Given the description of an element on the screen output the (x, y) to click on. 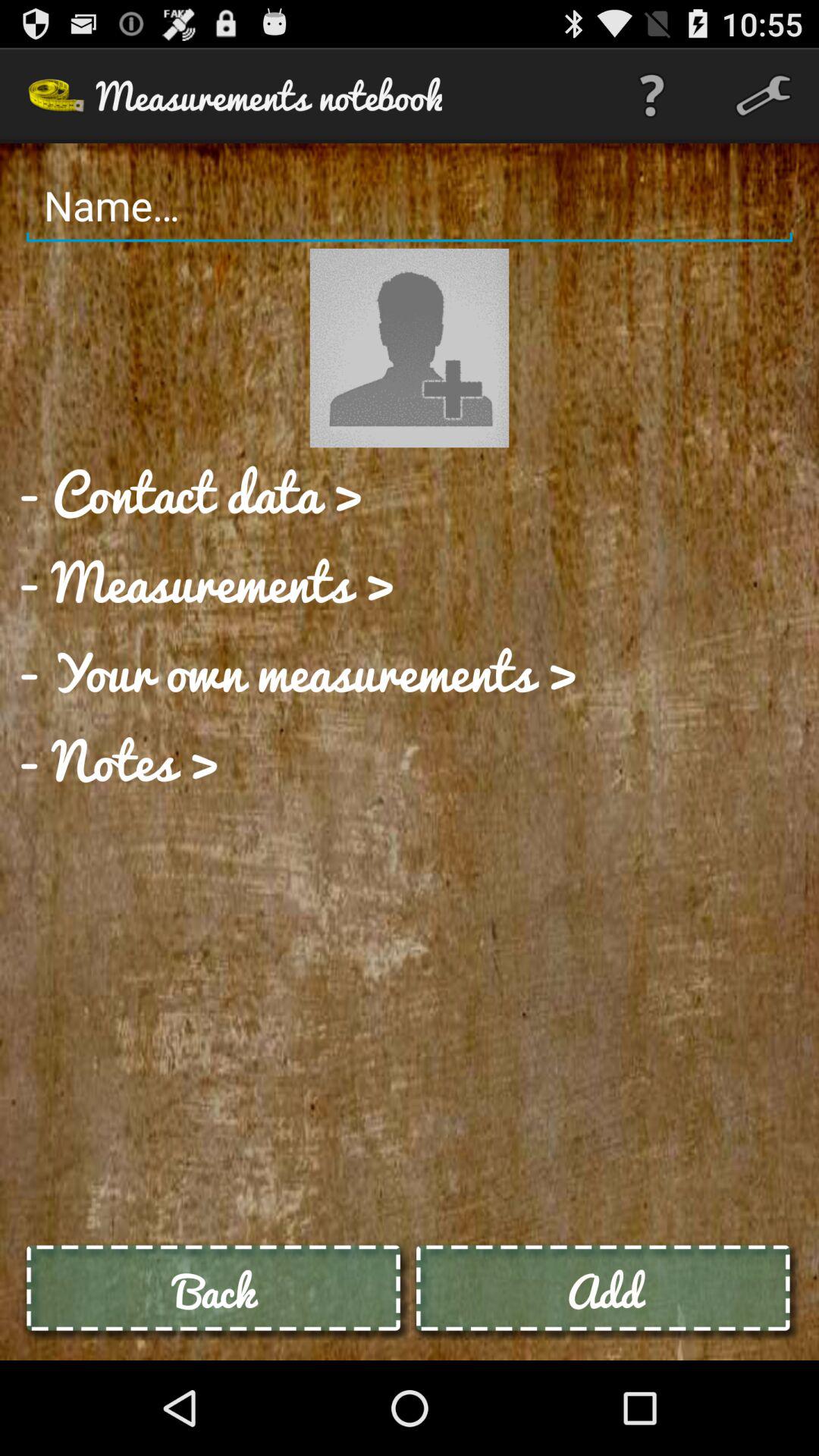
click back icon (214, 1290)
